Given the description of an element on the screen output the (x, y) to click on. 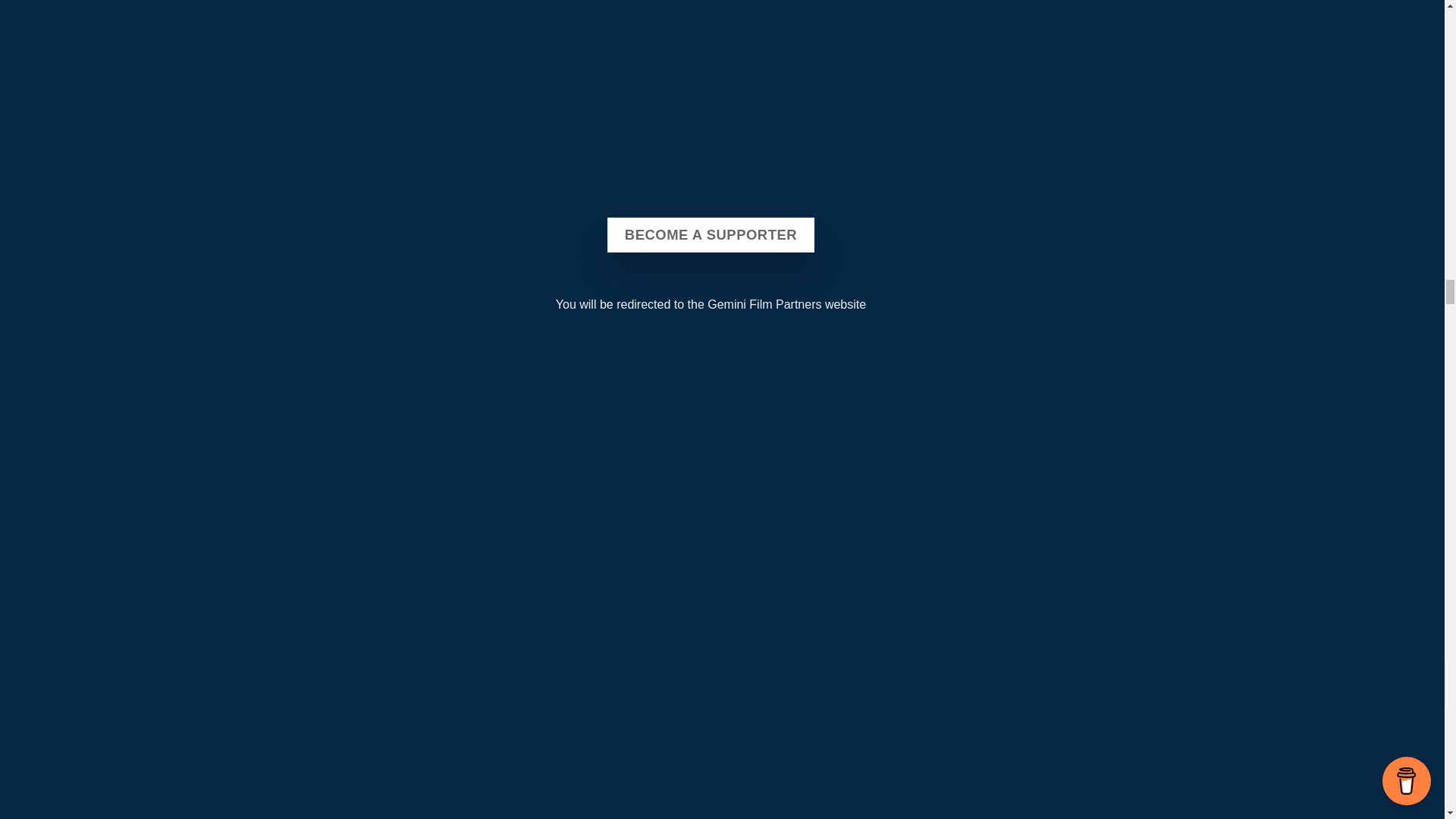
BECOME A SUPPORTER (710, 234)
